Given the description of an element on the screen output the (x, y) to click on. 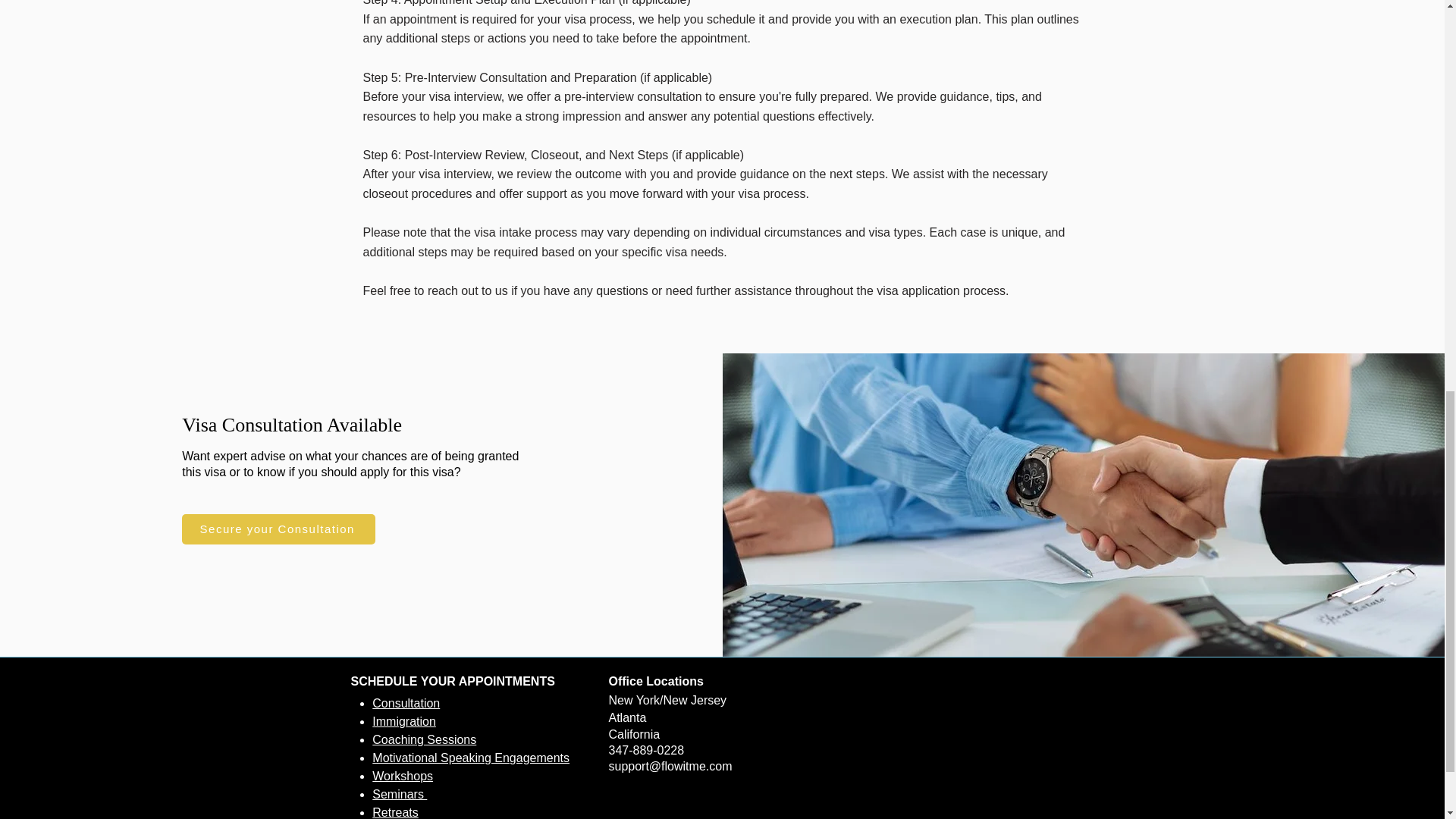
Coaching Sessions (424, 739)
Retreats (394, 812)
Consultation (405, 703)
Secure your Consultation (278, 529)
Immigration (403, 721)
